Given the description of an element on the screen output the (x, y) to click on. 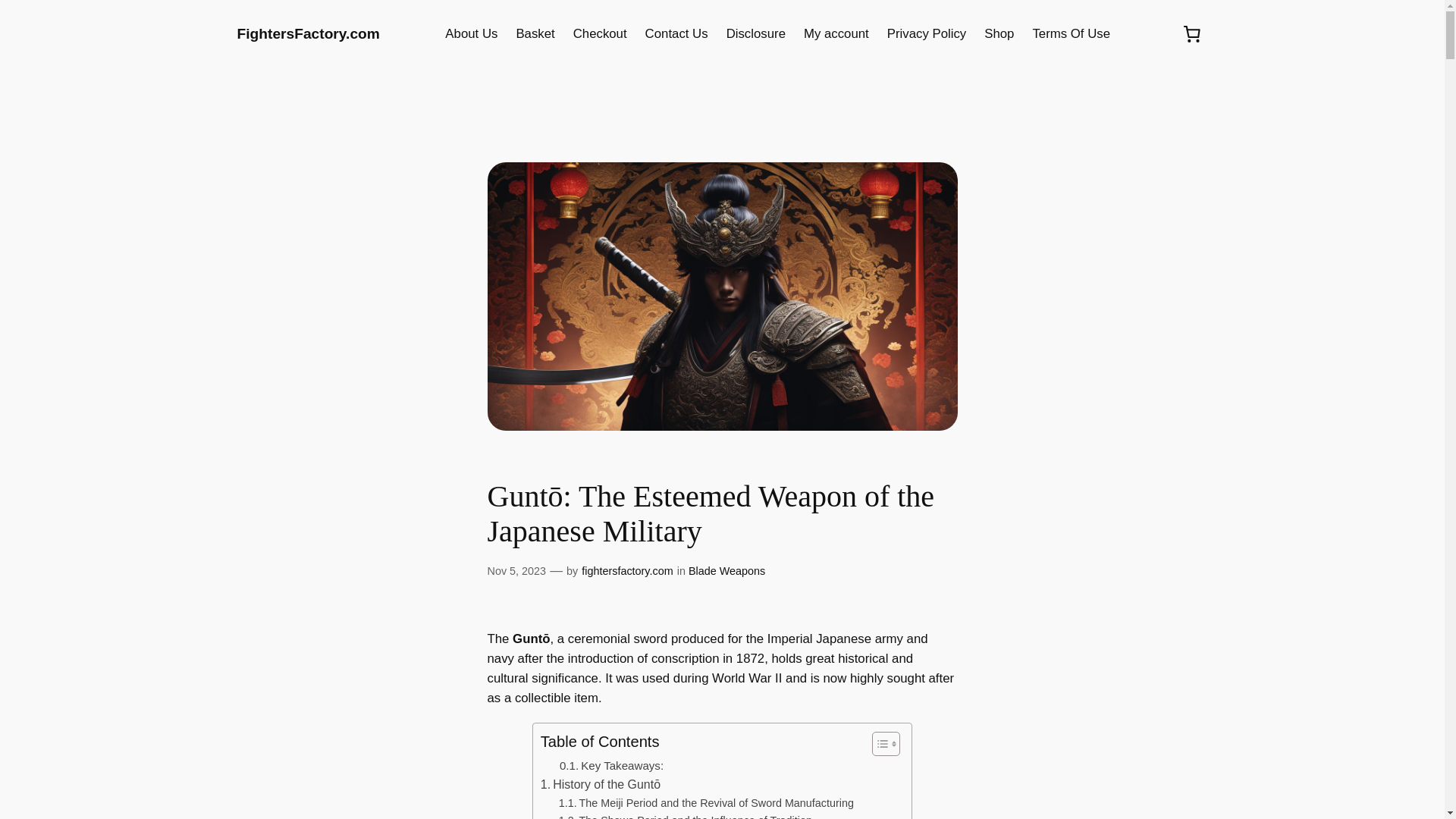
FightersFactory.com (306, 33)
Nov 5, 2023 (516, 571)
The Showa Period and the Influence of Tradition (685, 815)
About Us (471, 34)
Key Takeaways: (611, 765)
The Meiji Period and the Revival of Sword Manufacturing (706, 803)
The Showa Period and the Influence of Tradition (685, 815)
Disclosure (756, 34)
Terms Of Use (1070, 34)
fightersfactory.com (626, 571)
Contact Us (676, 34)
Basket (534, 34)
Shop (998, 34)
Privacy Policy (926, 34)
Blade Weapons (726, 571)
